Given the description of an element on the screen output the (x, y) to click on. 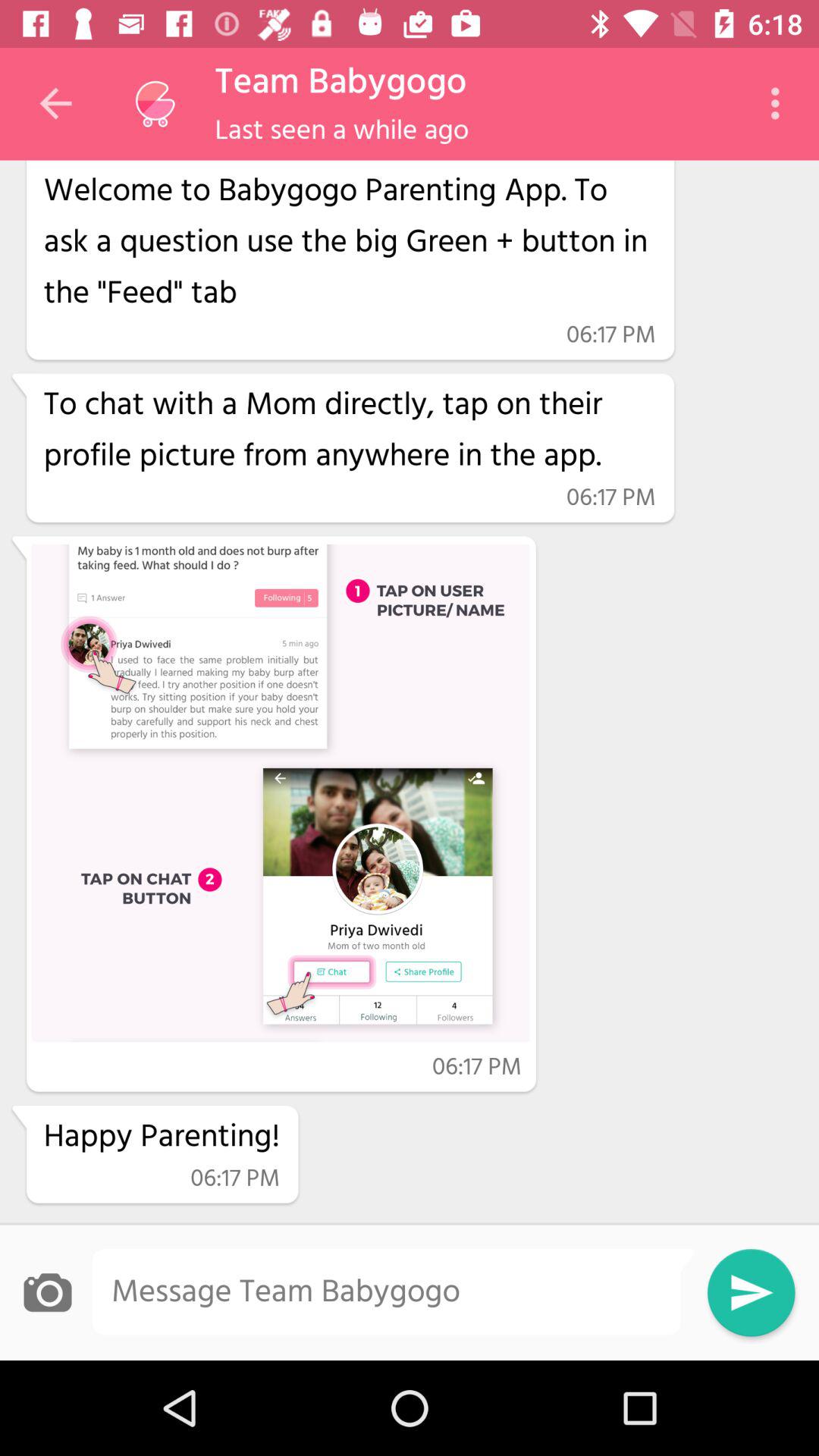
select icon to the right of the hi app crawler item (779, 103)
